Given the description of an element on the screen output the (x, y) to click on. 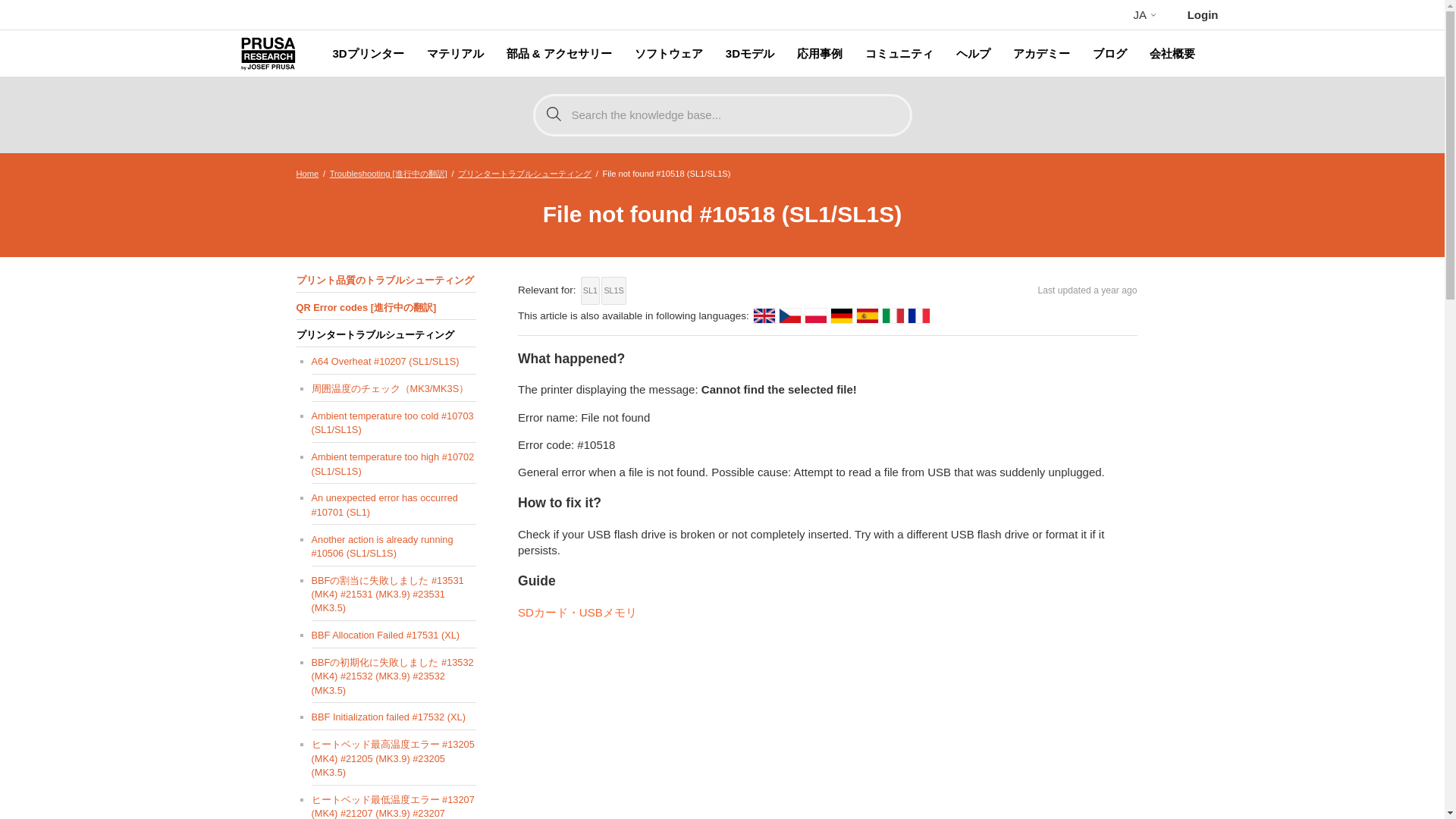
EN (764, 315)
CS (789, 315)
IT (893, 315)
ES (867, 315)
DE (841, 315)
Home (306, 173)
Login (1203, 14)
PL (816, 315)
FR (919, 315)
